Given the description of an element on the screen output the (x, y) to click on. 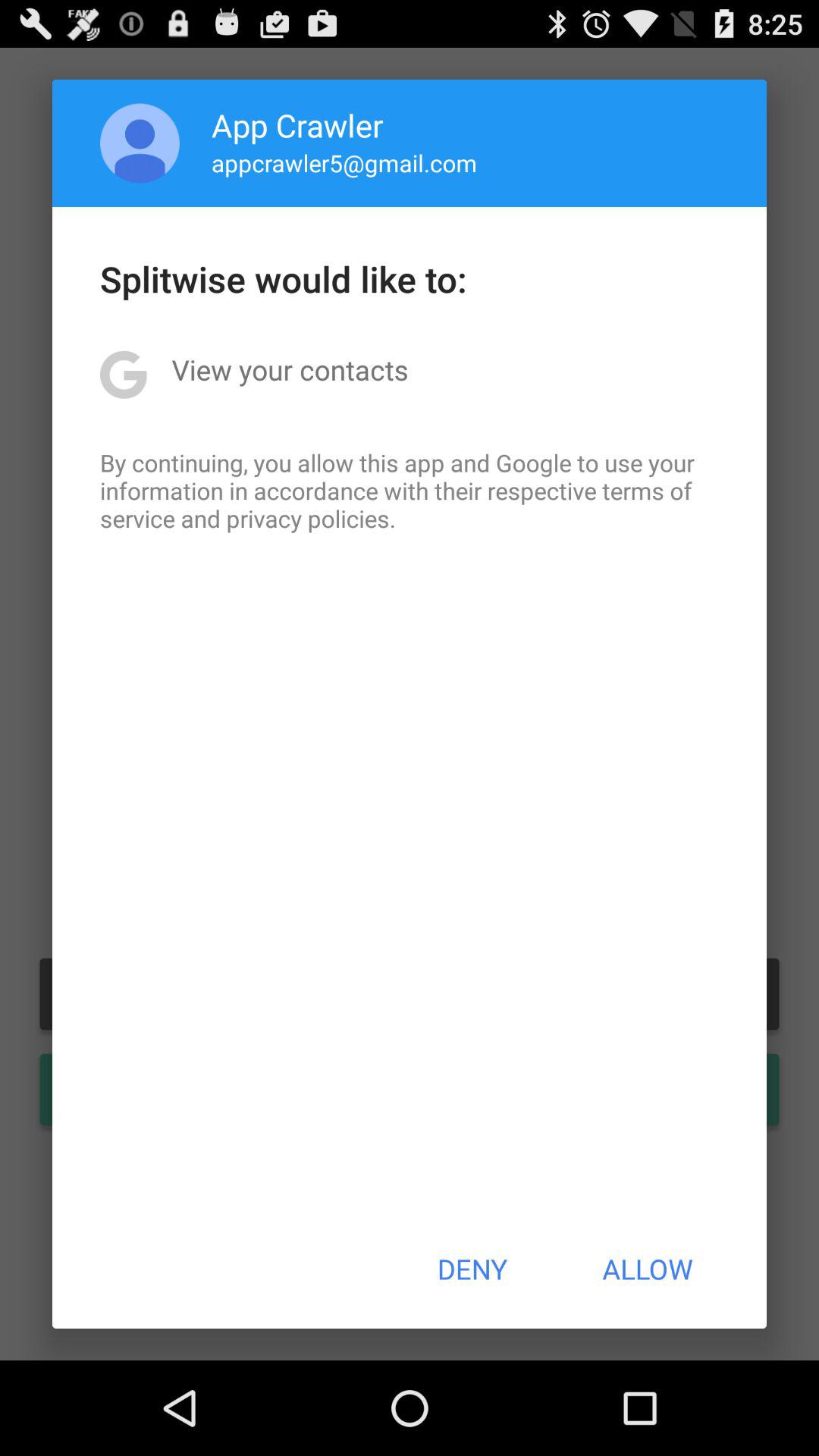
press the item below the app crawler (344, 162)
